Given the description of an element on the screen output the (x, y) to click on. 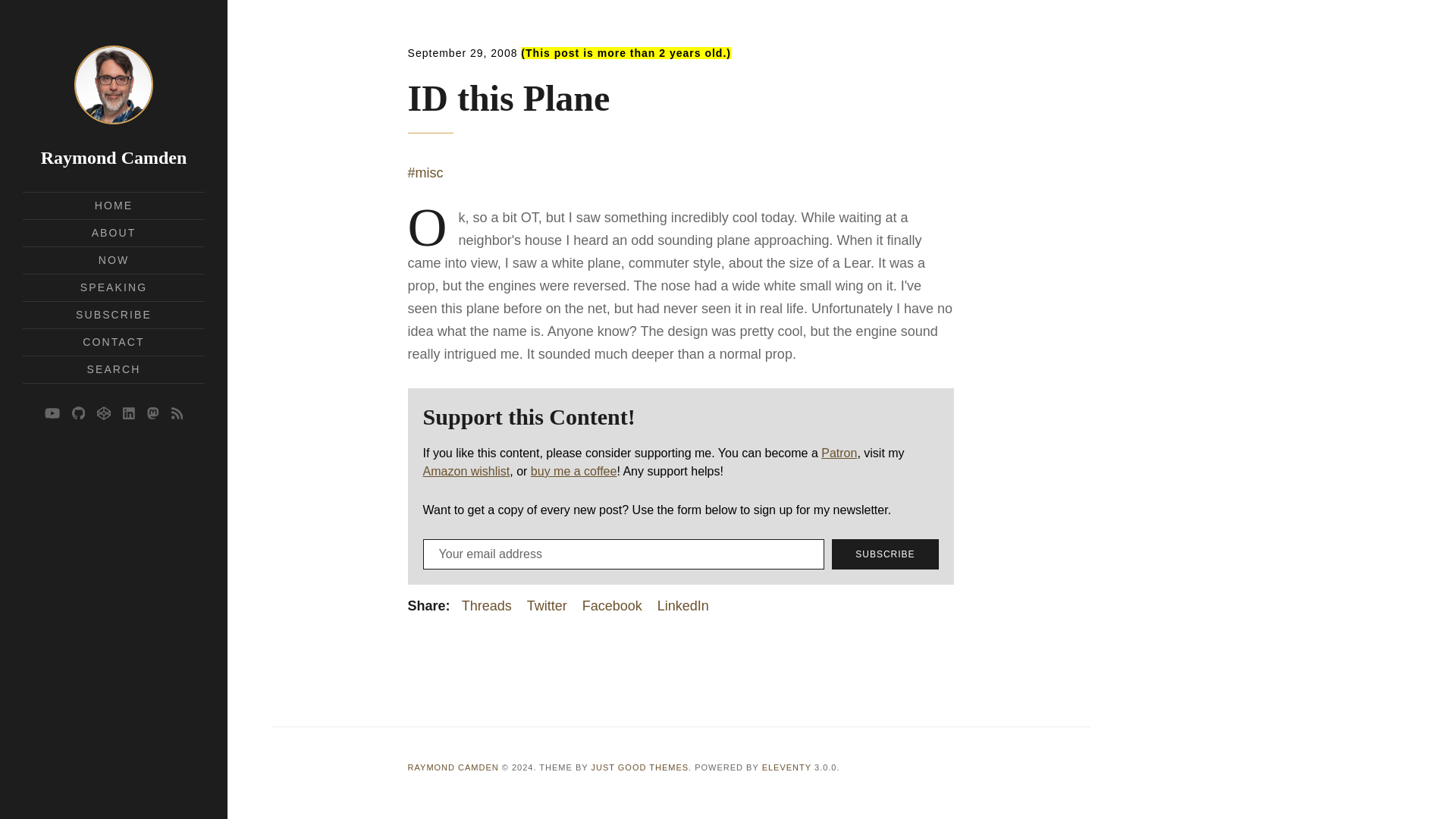
SUBSCRIBE (113, 314)
SEARCH (114, 369)
JUST GOOD THEMES (639, 767)
SPEAKING (113, 287)
SUBSCRIBE (884, 553)
buy me a coffee (574, 471)
misc (425, 172)
NOW (114, 259)
Raymond Camden (113, 157)
ELEVENTY (785, 767)
